Given the description of an element on the screen output the (x, y) to click on. 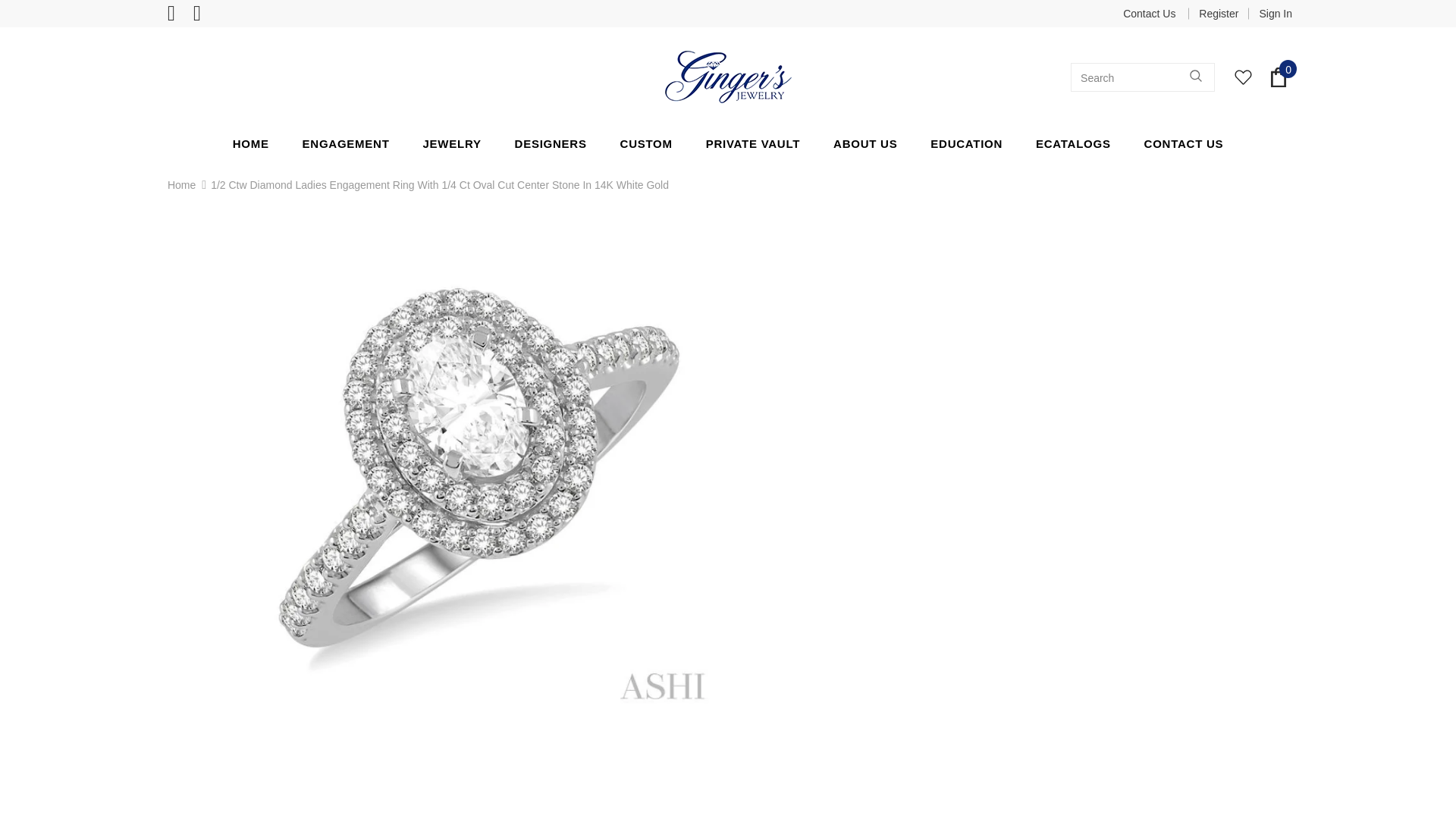
Sign In (1269, 13)
Register (1218, 13)
